Given the description of an element on the screen output the (x, y) to click on. 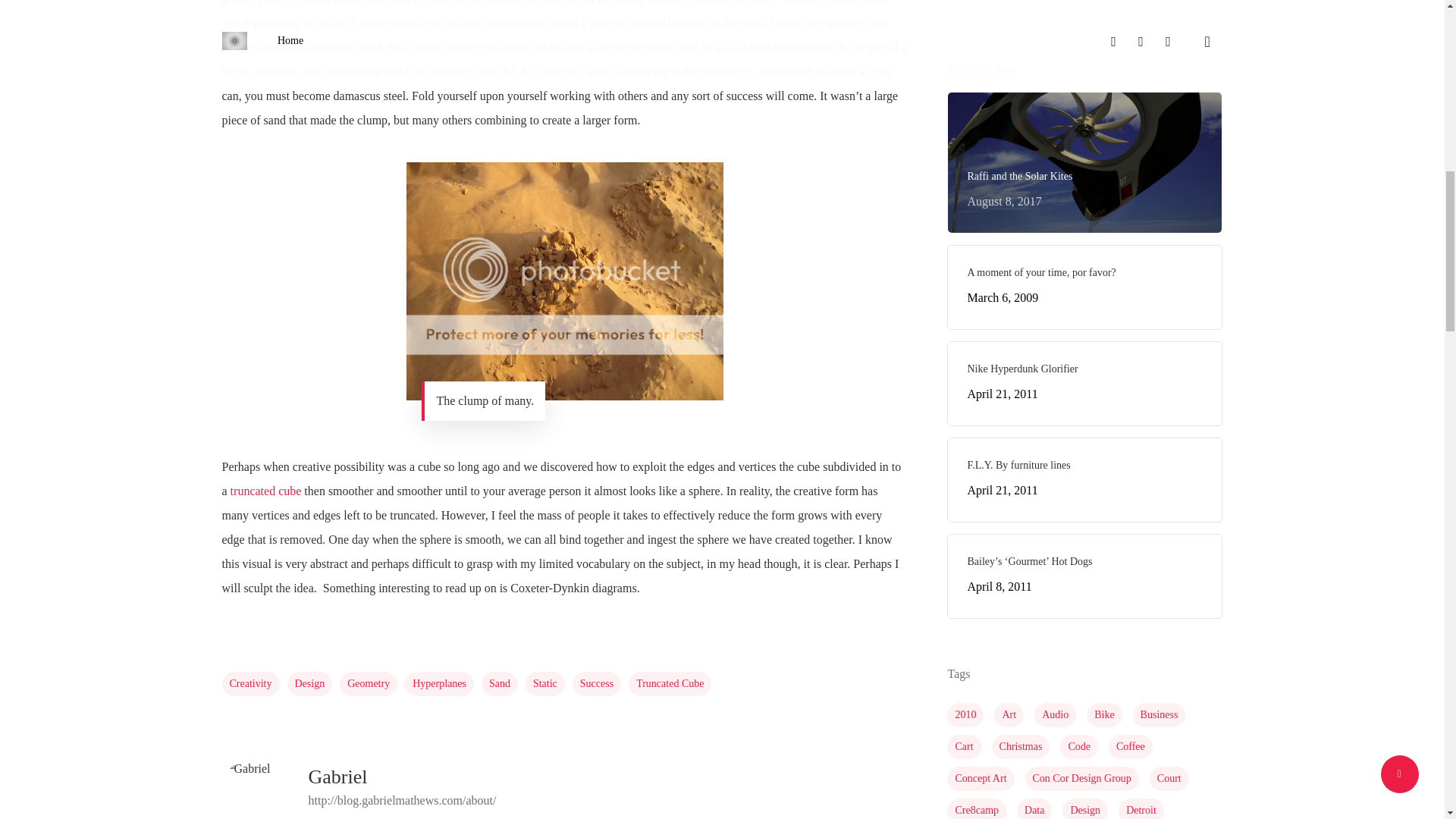
Robert Redford (448, 47)
Cart (1084, 383)
Business (963, 746)
Design (1159, 714)
Sand (308, 683)
Gabriel (564, 281)
Truncated Cube (336, 776)
truncated cube (669, 683)
